Given the description of an element on the screen output the (x, y) to click on. 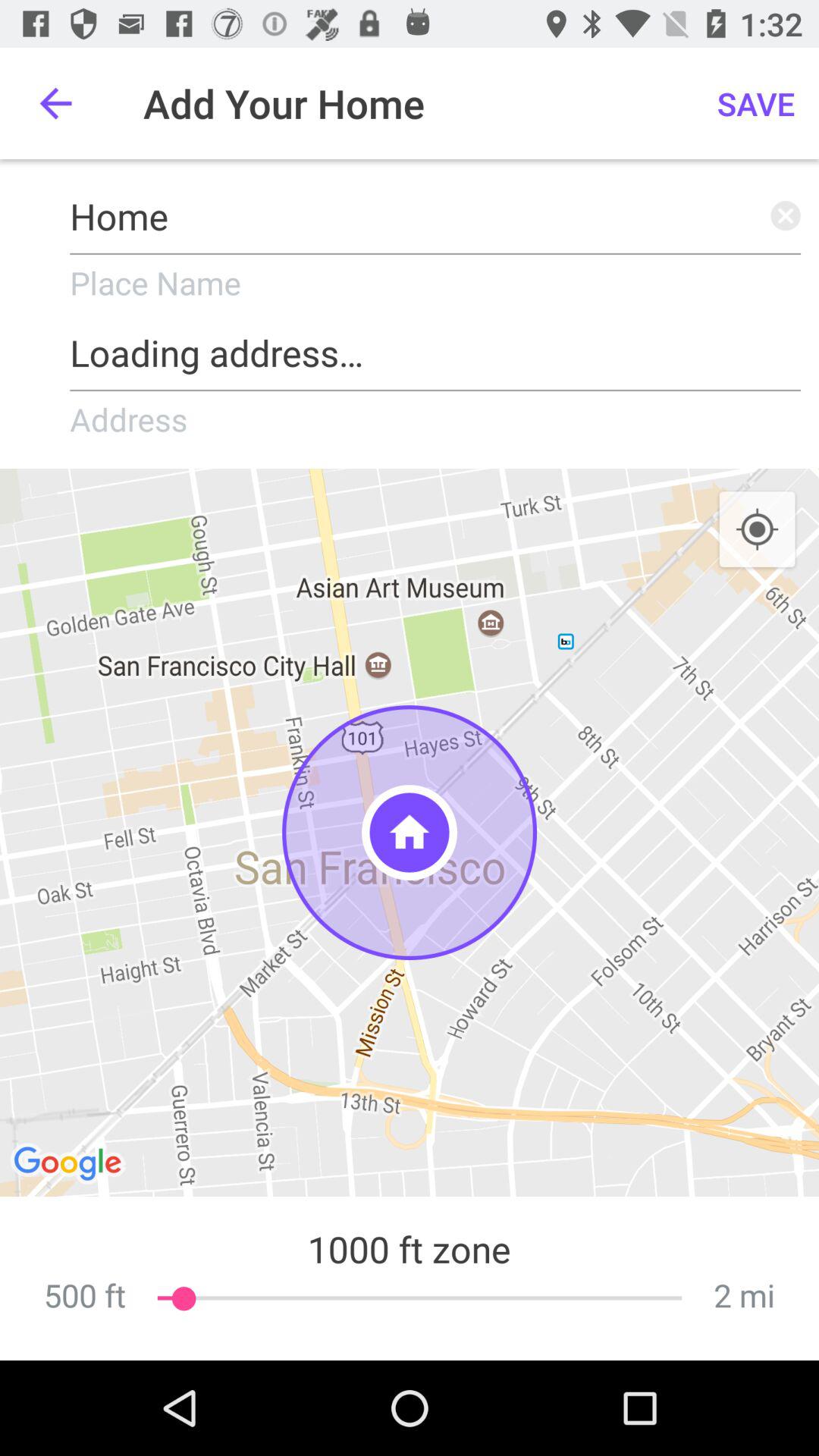
turn on icon below place name icon (434, 347)
